Given the description of an element on the screen output the (x, y) to click on. 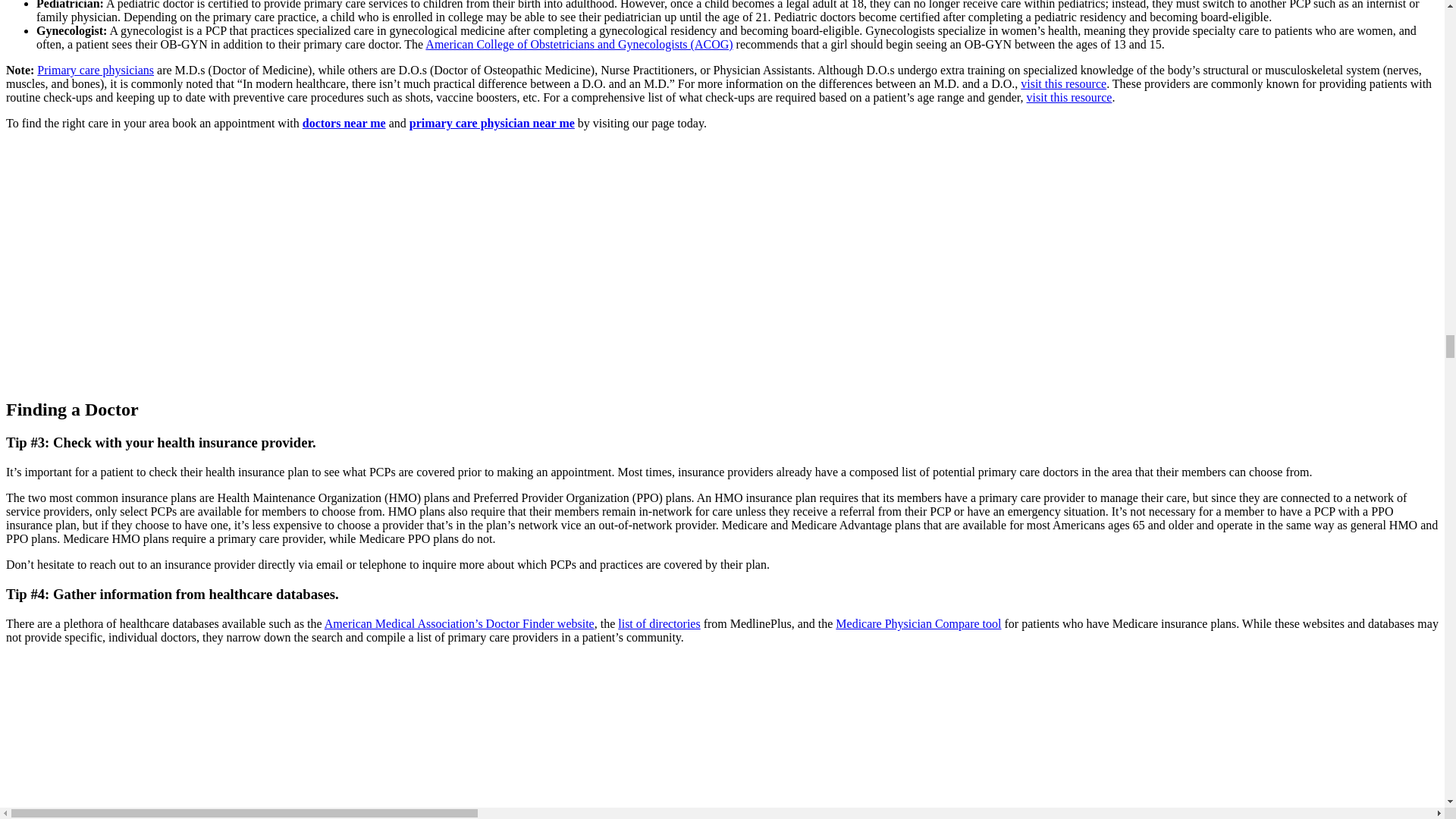
YouTube video player (217, 261)
